Given the description of an element on the screen output the (x, y) to click on. 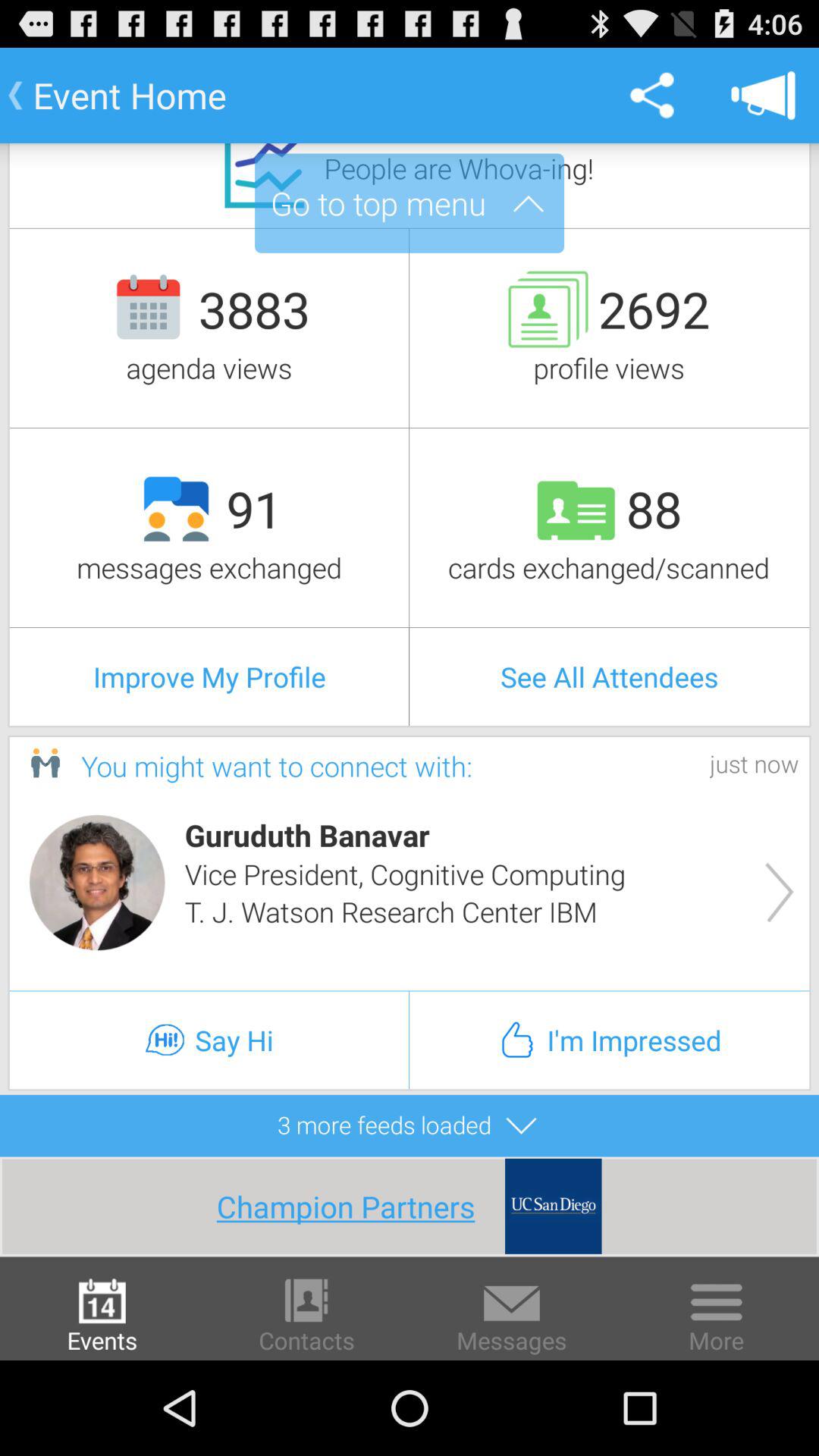
go to profile (96, 882)
